Given the description of an element on the screen output the (x, y) to click on. 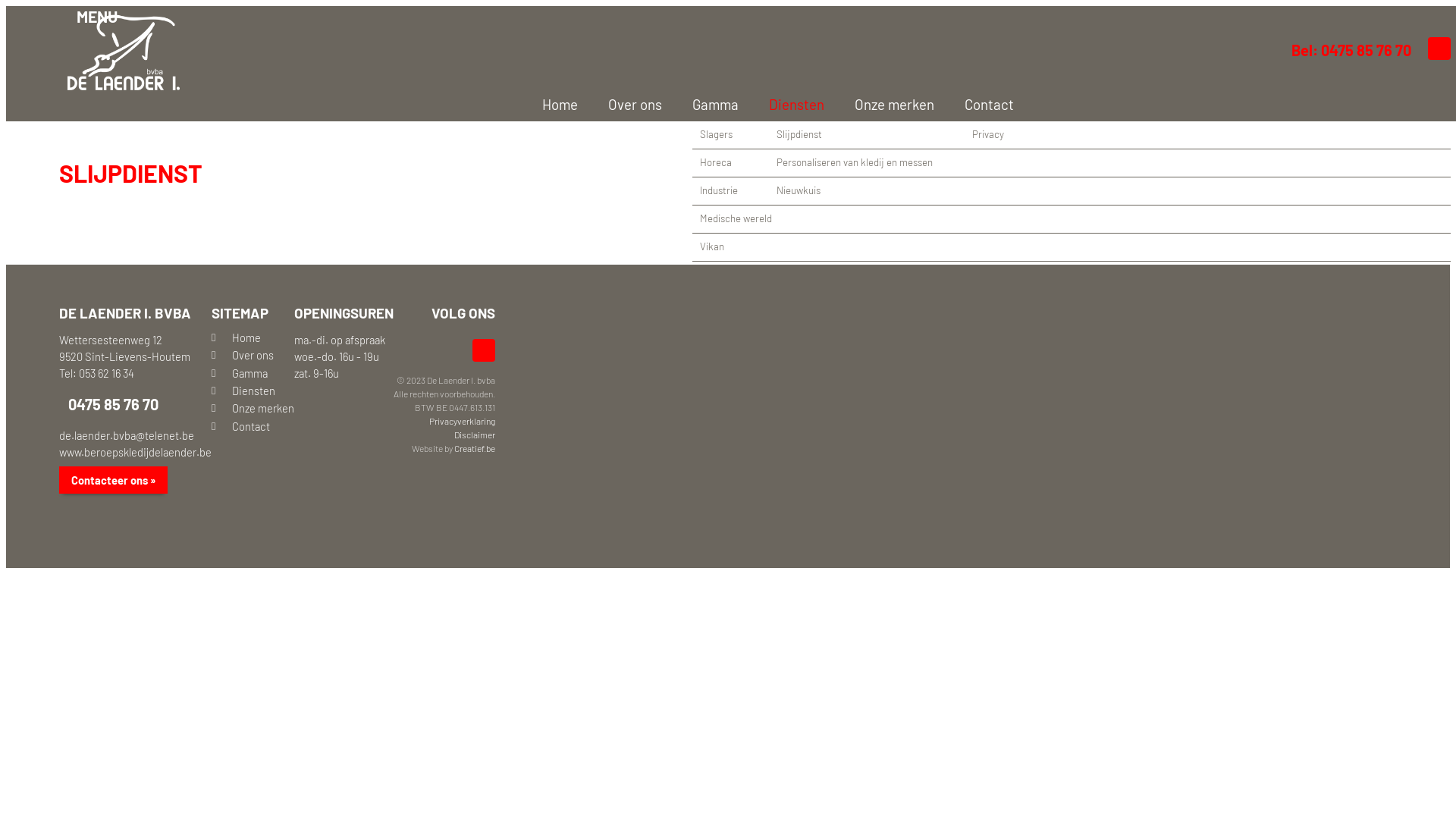
Privacyverklaring Element type: text (462, 420)
Medische wereld Element type: text (1071, 218)
Home Element type: text (544, 104)
Home Element type: text (252, 339)
MENU Element type: text (92, 15)
Disclaimer Element type: text (474, 434)
Gamma Element type: text (252, 375)
0475 85 76 70 Element type: text (108, 404)
Slijpdienst Element type: text (1005, 134)
Contact Element type: text (252, 428)
Over ons Element type: text (619, 104)
Creatief.be Element type: text (474, 447)
Bel: 0475 85 76 70 Element type: text (1346, 49)
Over ons Element type: text (252, 357)
Slagers Element type: text (1071, 134)
Onze merken Element type: text (879, 104)
www.beroepskledijdelaender.be Element type: text (135, 451)
Vikan Element type: text (1071, 246)
Contact Element type: text (973, 104)
Horeca Element type: text (1071, 162)
Diensten Element type: text (781, 104)
Diensten Element type: text (252, 392)
Nieuwkuis Element type: text (1005, 190)
Industrie Element type: text (1071, 190)
Personaliseren van kledij en messen Element type: text (1005, 162)
de.laender.bvba@telenet.be Element type: text (126, 435)
Gamma Element type: text (700, 104)
Onze merken Element type: text (252, 410)
Privacy Element type: text (1040, 134)
